Given the description of an element on the screen output the (x, y) to click on. 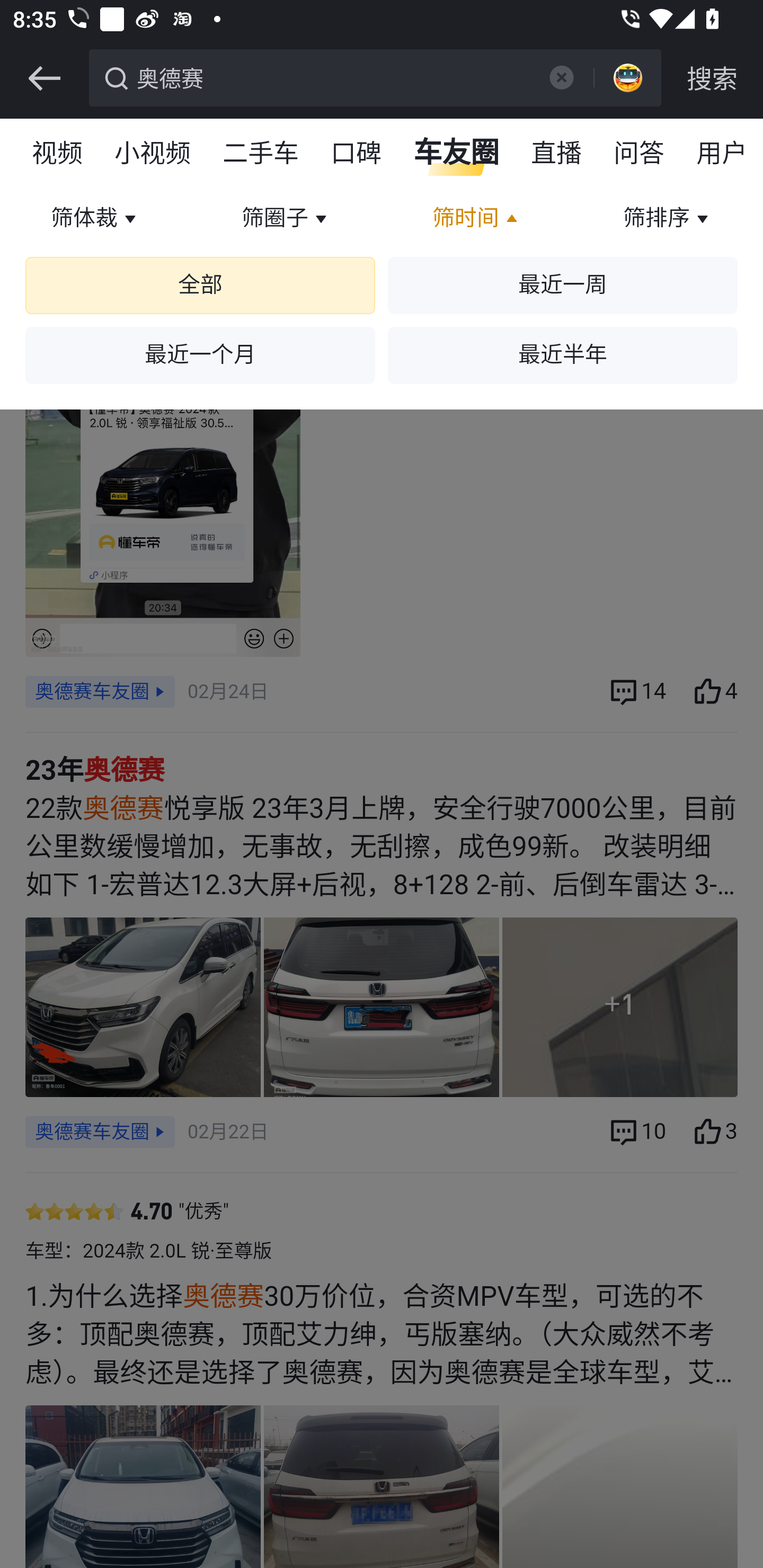
奥德赛 (331, 76)
 (560, 77)
 (44, 78)
搜索 (711, 78)
视频 (57, 154)
小视频 (153, 154)
二手车 (261, 154)
口碑 (356, 154)
车友圈 (456, 154)
直播 (556, 154)
问答 (639, 154)
用户 (721, 154)
